Given the description of an element on the screen output the (x, y) to click on. 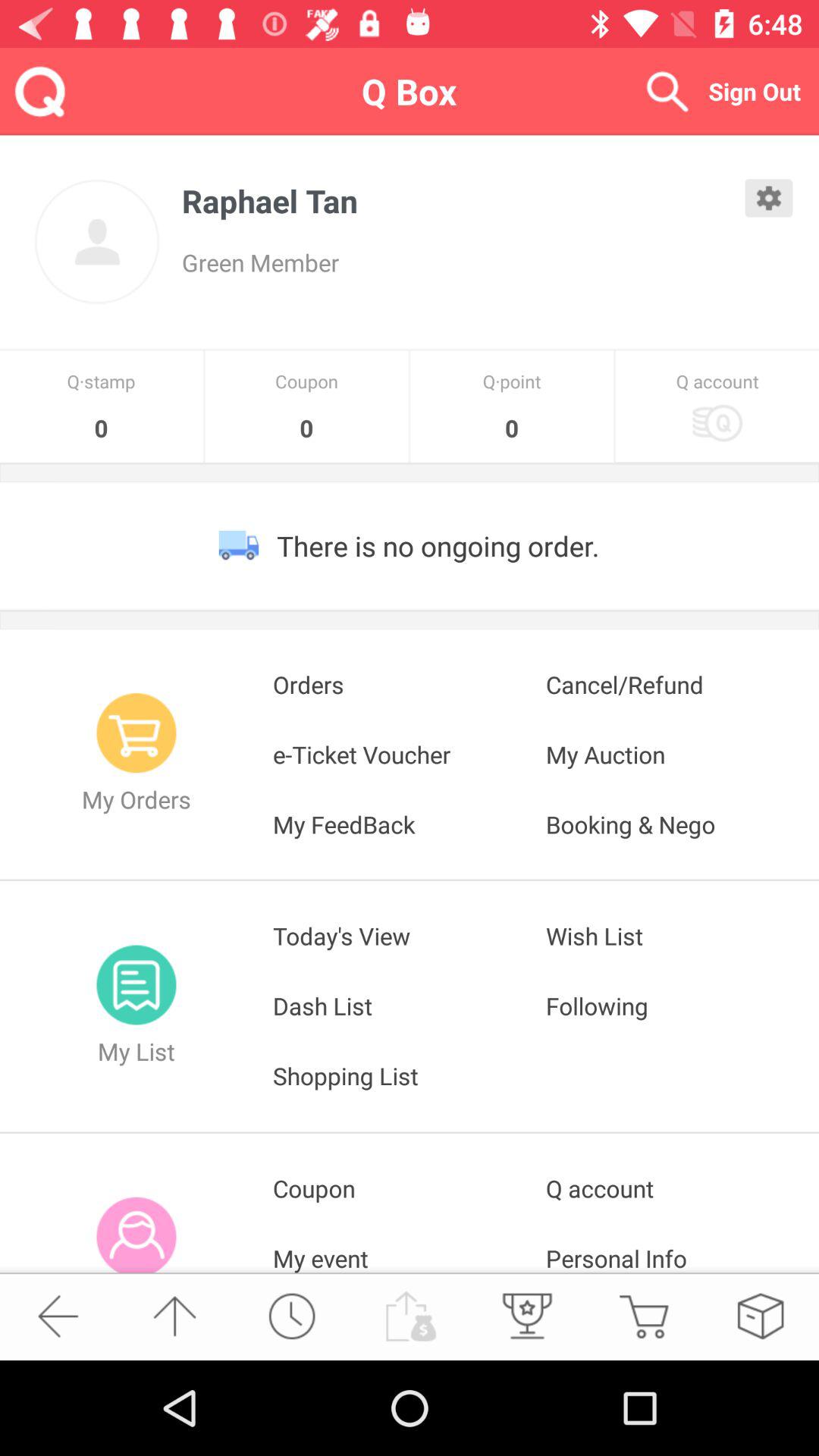
choose the item below the personal info (642, 1316)
